Given the description of an element on the screen output the (x, y) to click on. 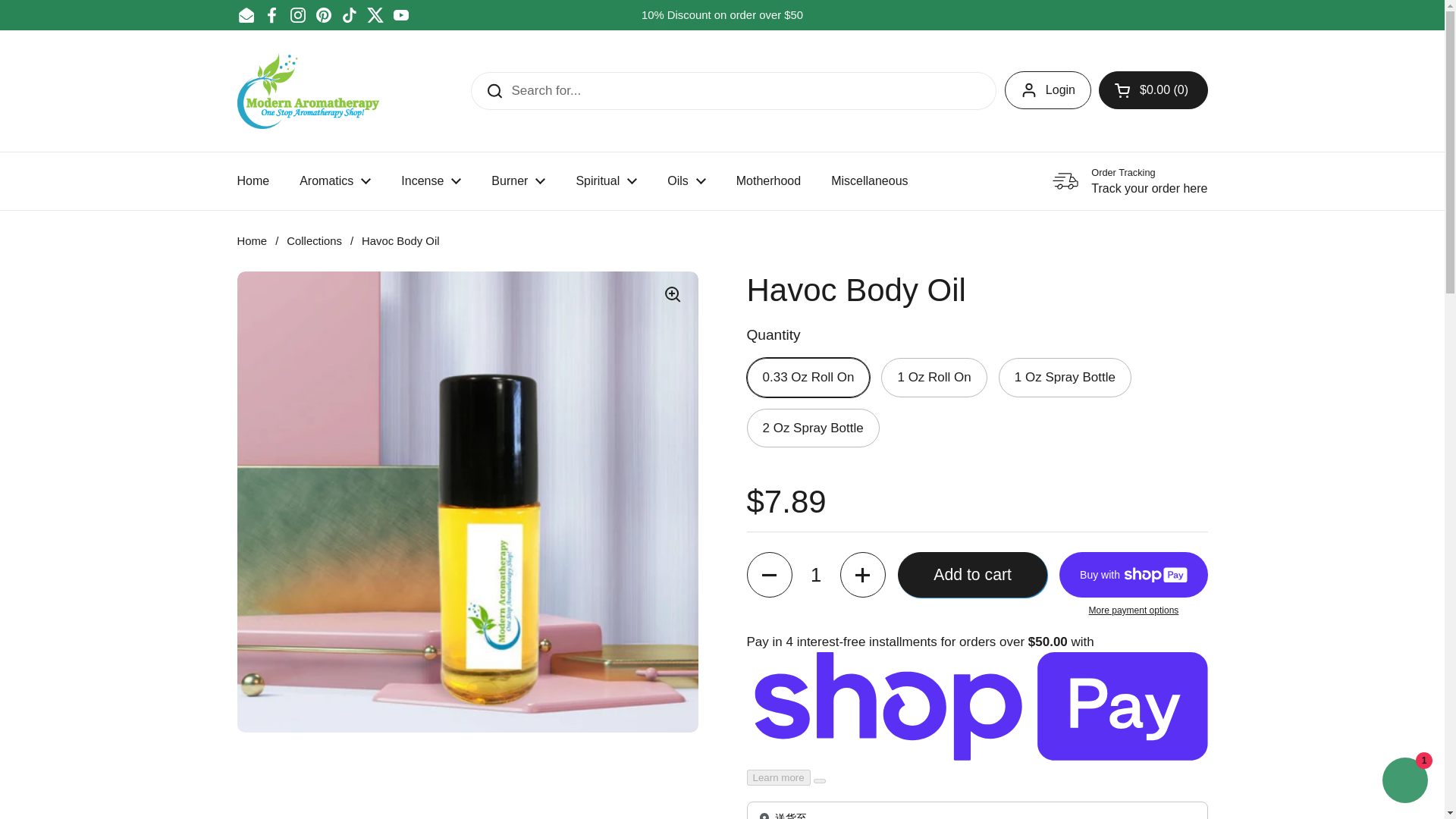
Aromatics (334, 181)
Pinterest (322, 14)
Email (244, 14)
Twitter (374, 14)
Aromatics (334, 181)
Modern Aromatherapy (306, 90)
YouTube (400, 14)
Login (1047, 89)
TikTok (348, 14)
Instagram (296, 14)
Home (252, 181)
Open cart (1153, 89)
1 (815, 574)
Home (252, 181)
